Given the description of an element on the screen output the (x, y) to click on. 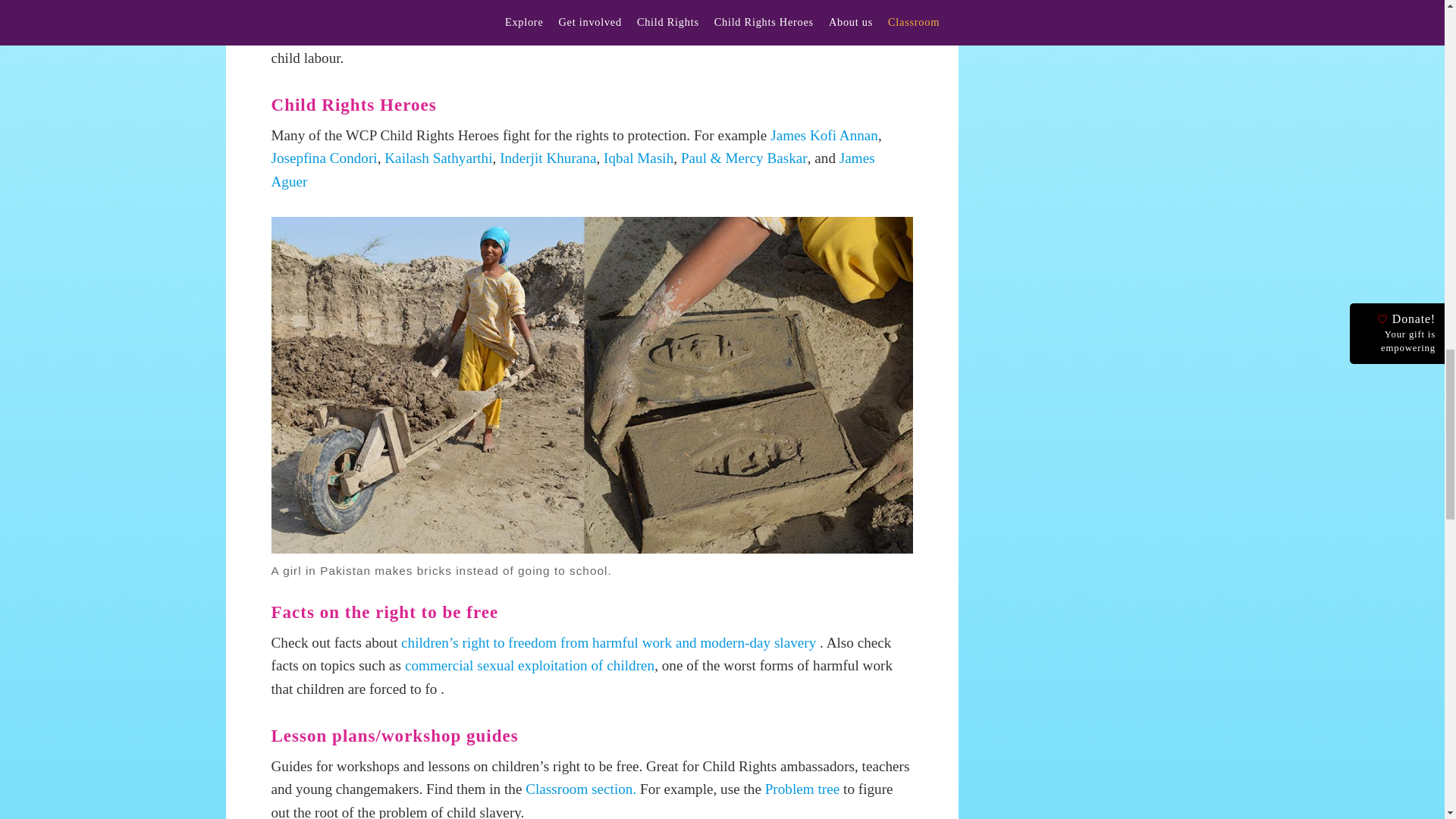
Kailash Sathyarthi (438, 157)
Problem tree (800, 788)
Inderjit Khurana (545, 157)
commercial sexual exploitation of children (528, 665)
Classroom section. (580, 788)
James Aguer (572, 169)
James Kofi Annan (823, 135)
Josepfina Condori (323, 157)
children being forced to work (558, 34)
Iqbal Masih (638, 157)
